Given the description of an element on the screen output the (x, y) to click on. 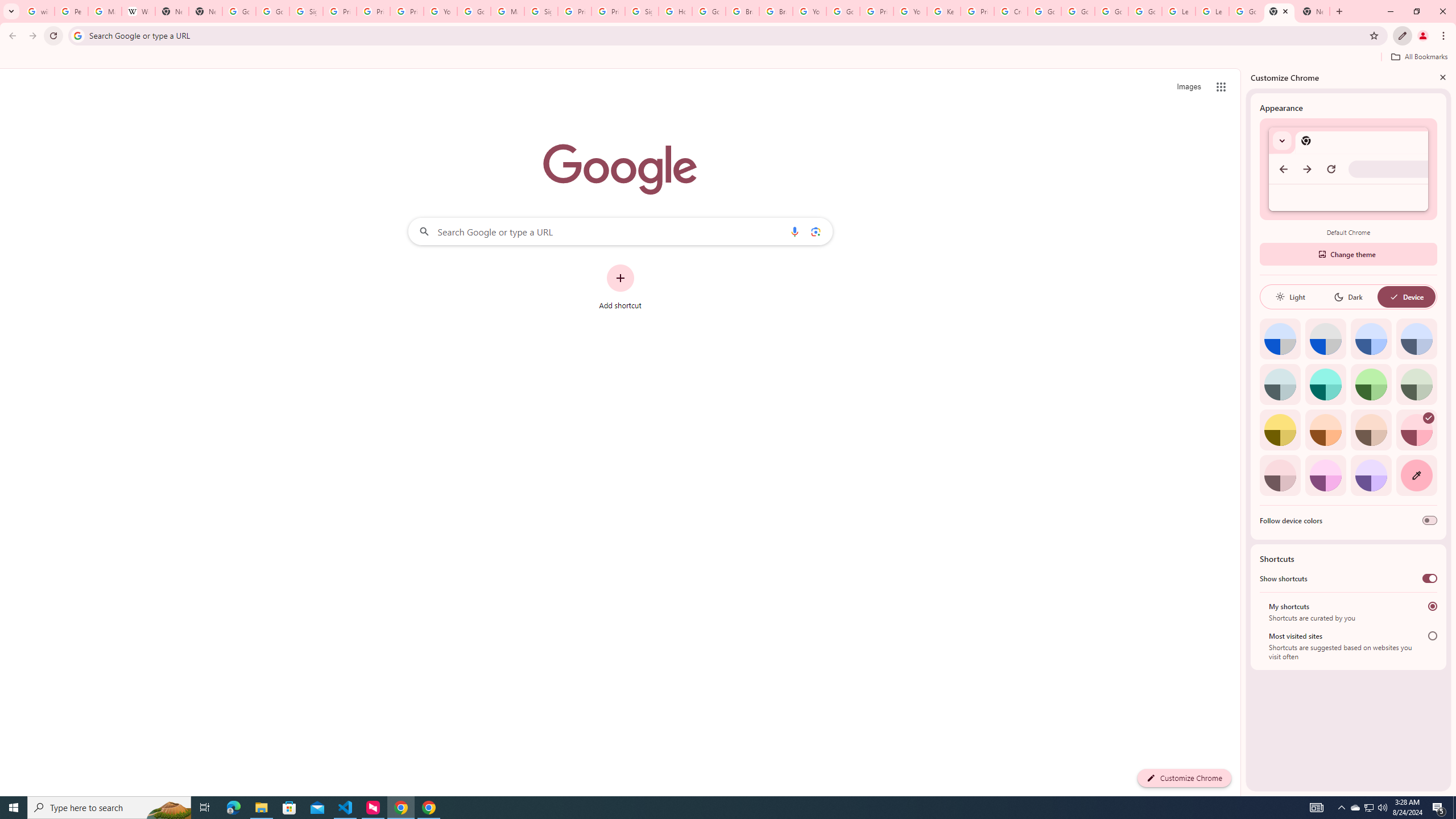
Sign in - Google Accounts (641, 11)
New Tab (1313, 11)
Google Account Help (474, 11)
AutomationID: baseSvg (1394, 296)
Apricot (1371, 429)
Light (1289, 296)
Change theme (1348, 254)
Brand Resource Center (742, 11)
Most visited sites (1432, 635)
Google Account Help (1077, 11)
